Given the description of an element on the screen output the (x, y) to click on. 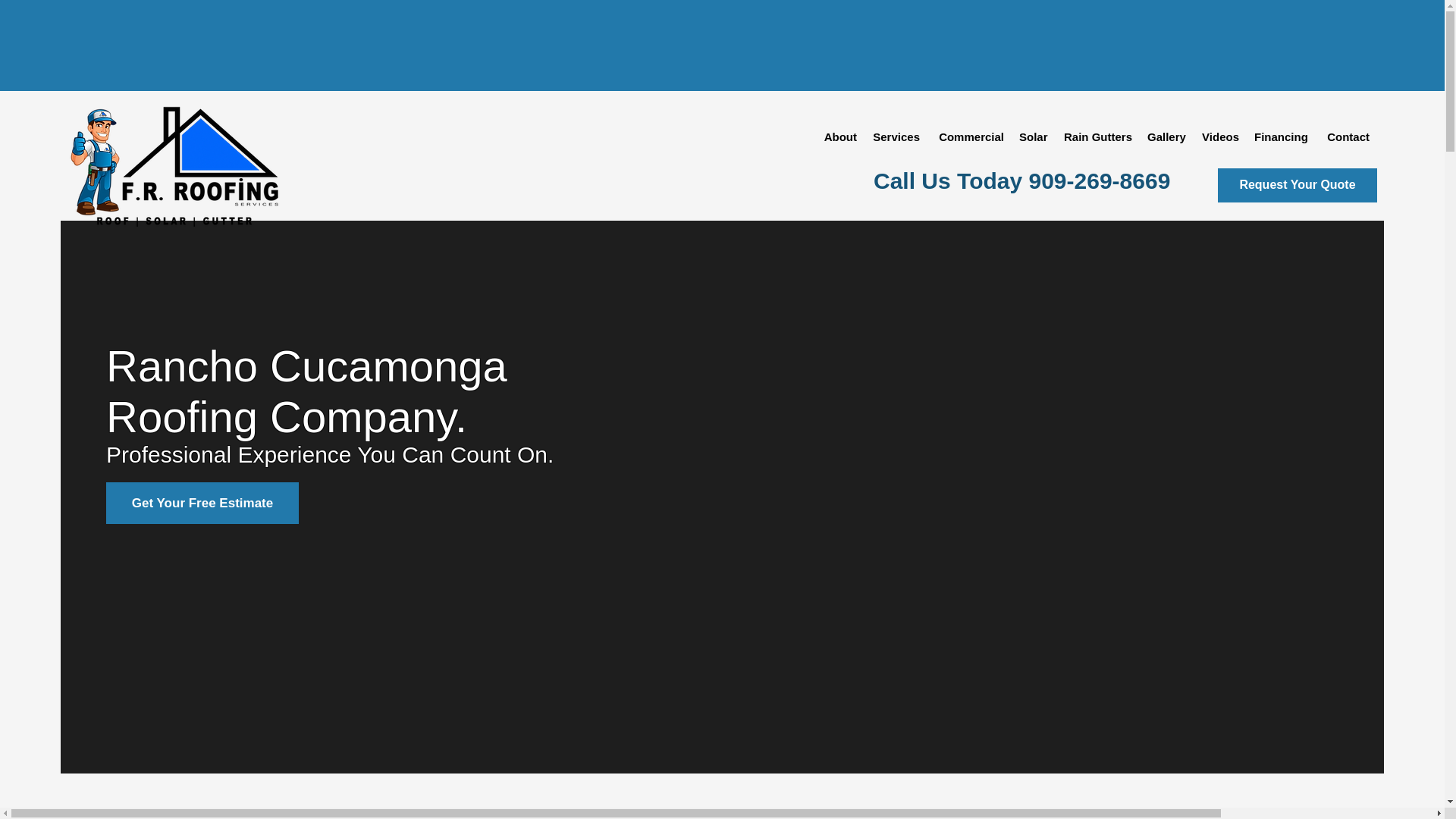
Financing (1280, 136)
About (838, 136)
Services (895, 136)
Commercial (969, 136)
Get Your Free Estimate (202, 503)
Videos (1219, 136)
Call Us Today 909-269-8669 (1021, 180)
Request Your Quote (1297, 185)
Contact (1345, 136)
Gallery (1166, 136)
Solar (1032, 136)
Rain Gutters (1097, 136)
